Given the description of an element on the screen output the (x, y) to click on. 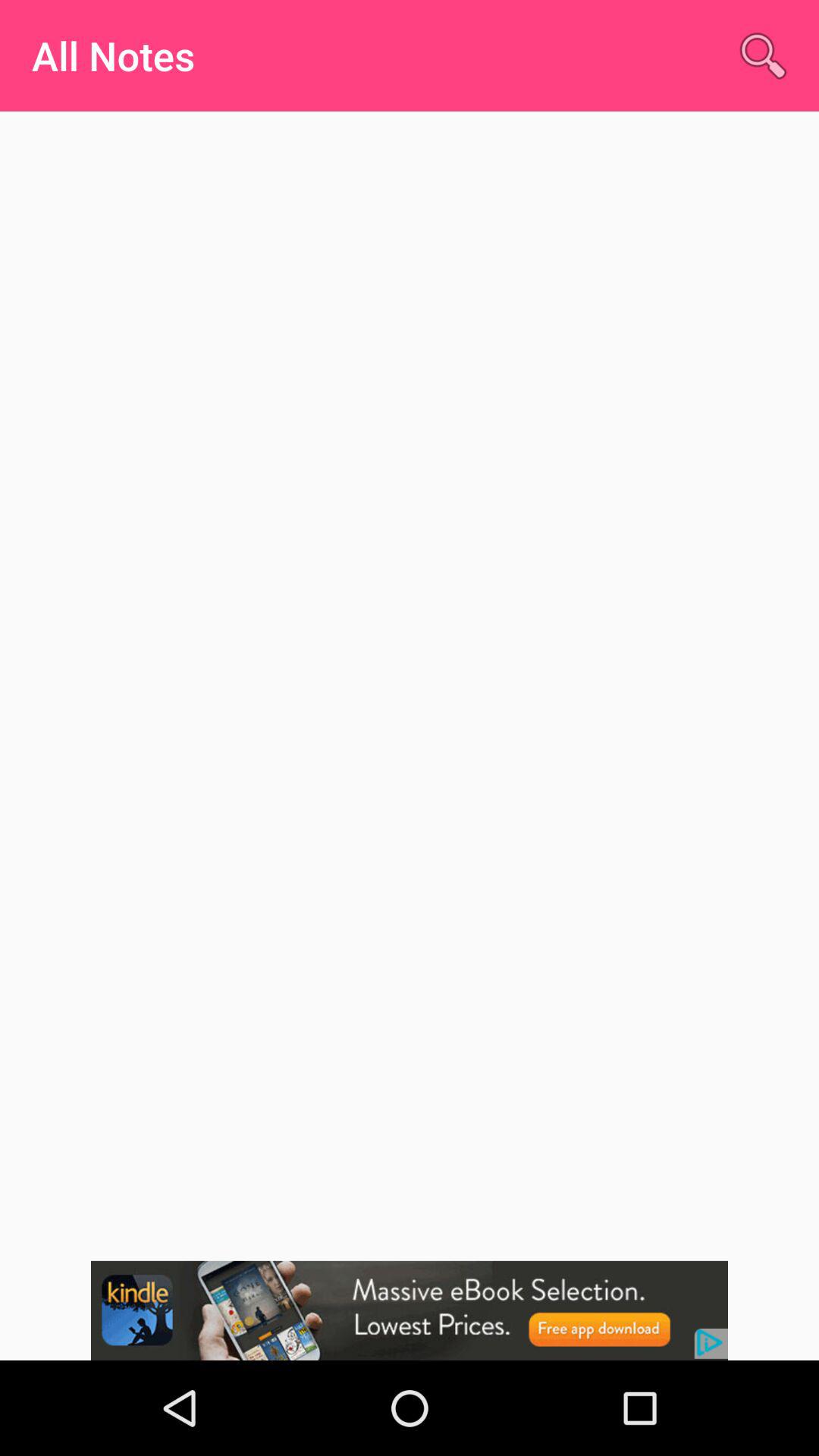
advertisement the article (409, 1310)
